Given the description of an element on the screen output the (x, y) to click on. 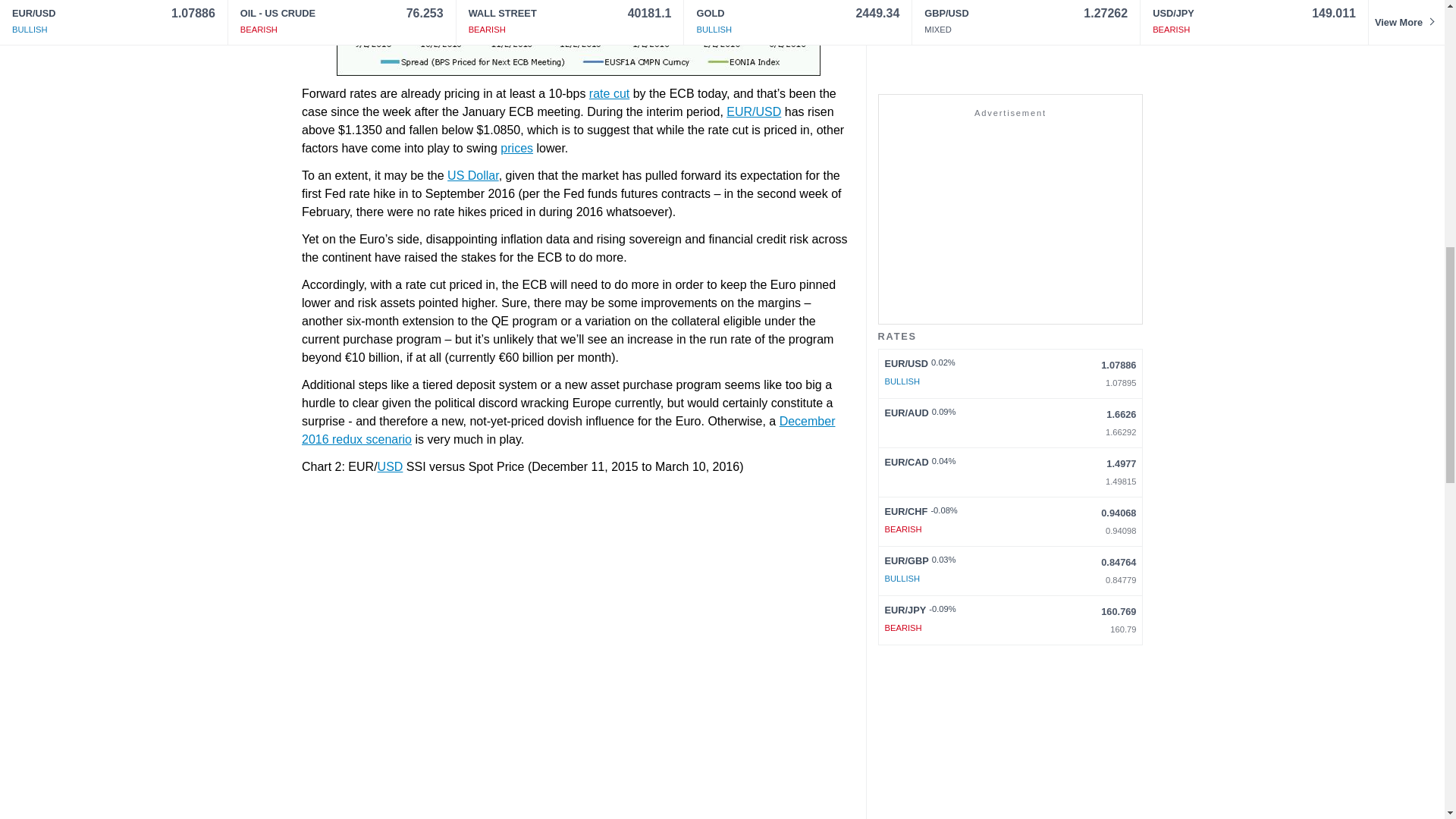
USD (390, 466)
rate cut (608, 92)
US Dollar (472, 174)
prices (516, 147)
